Given the description of an element on the screen output the (x, y) to click on. 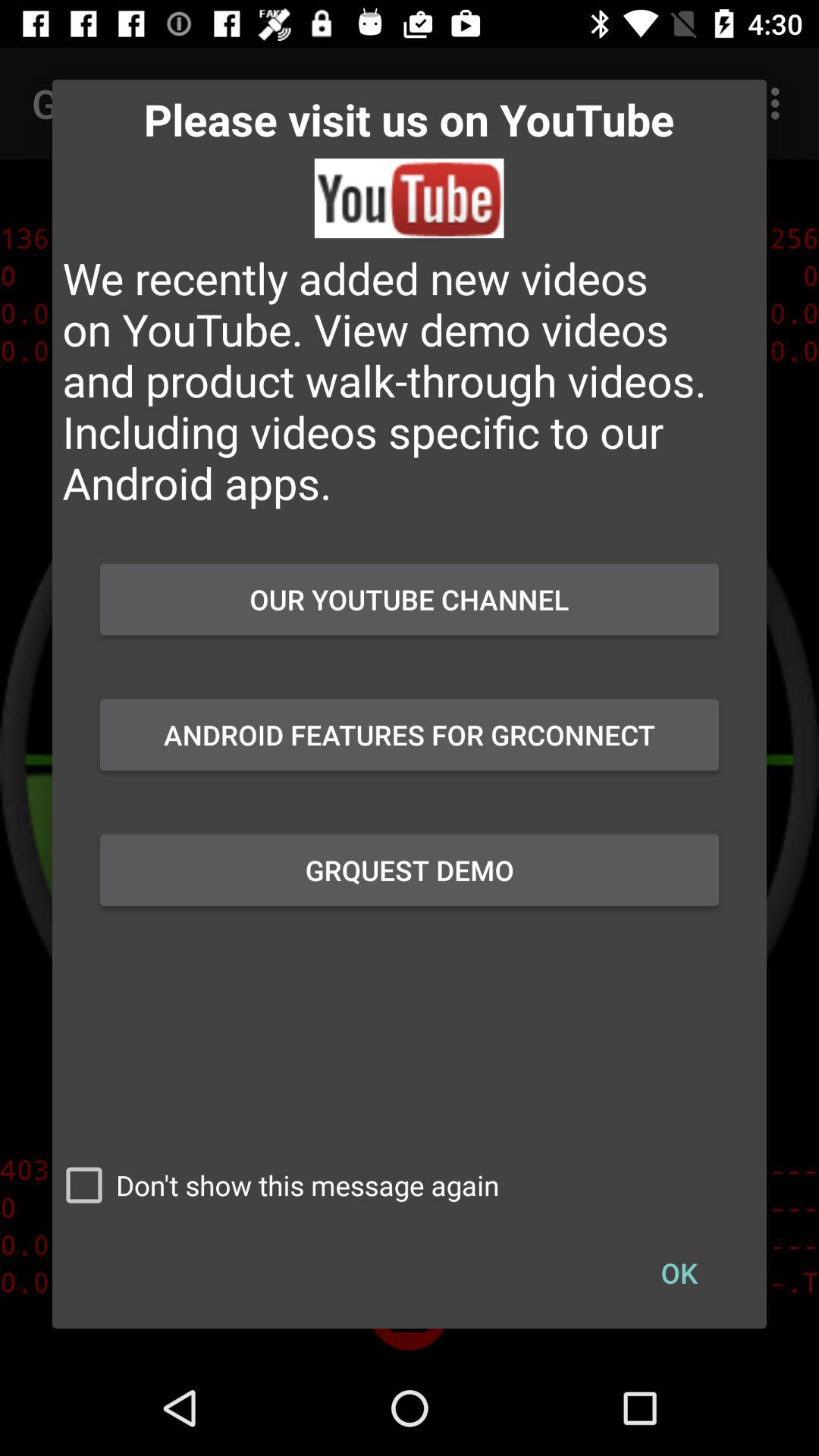
choose the checkbox to the right of don t show checkbox (678, 1272)
